Given the description of an element on the screen output the (x, y) to click on. 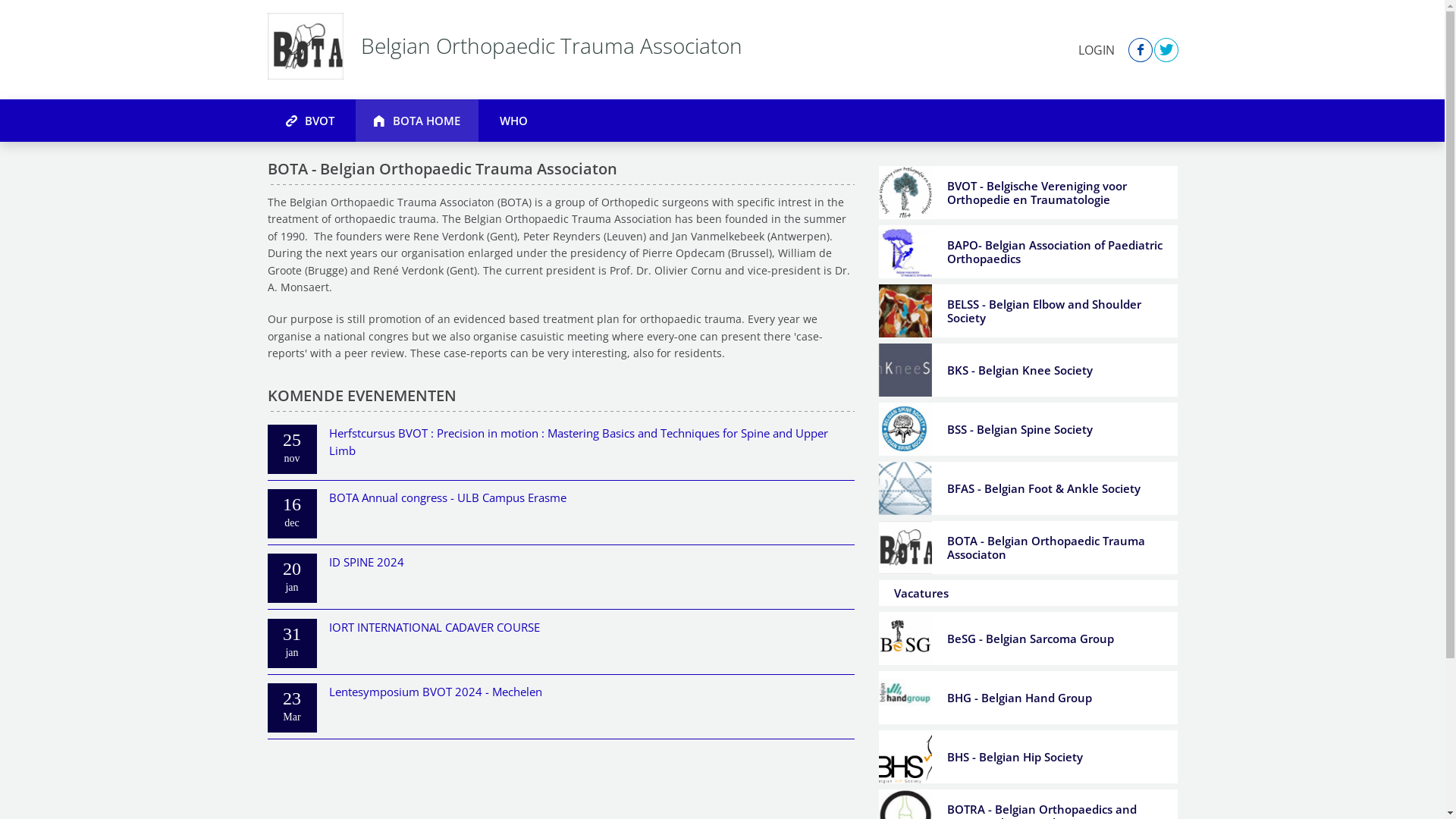
BKS - Belgian Knee Society Element type: text (1027, 369)
BVOT - Belgische Vereniging voor Orthopedie en Traumatologie Element type: text (1027, 192)
TWITTER Element type: text (1165, 48)
BHG - Belgian Hand Group Element type: text (1027, 697)
BSS - Belgian Spine Society Element type: text (1027, 428)
BVOT Element type: text (308, 120)
FACEBOOK Element type: text (1139, 48)
BHS - Belgian Hip Society Element type: text (1027, 756)
BFAS - Belgian Foot & Ankle Society Element type: text (1027, 487)
BELSS - Belgian Elbow and Shoulder Society Element type: text (1027, 310)
20 jan
ID SPINE 2024 Element type: text (559, 579)
Belgian Orthopaedic Trauma Associaton Element type: text (547, 49)
BOTA HOME Element type: text (415, 120)
BAPO- Belgian Association of Paediatric Orthopaedics Element type: text (1027, 251)
Home Element type: hover (304, 45)
BOTA - Belgian Orthopaedic Trauma Associaton Element type: text (1027, 547)
LOGIN Element type: text (1096, 48)
16 dec
BOTA Annual congress - ULB Campus Erasme Element type: text (559, 515)
31 jan
IORT INTERNATIONAL CADAVER COURSE Element type: text (559, 644)
BeSG - Belgian Sarcoma Group Element type: text (1027, 638)
23 Mar
Lentesymposium BVOT 2024 - Mechelen Element type: text (559, 709)
WHO Element type: text (512, 120)
Vacatures Element type: text (1027, 592)
